Given the description of an element on the screen output the (x, y) to click on. 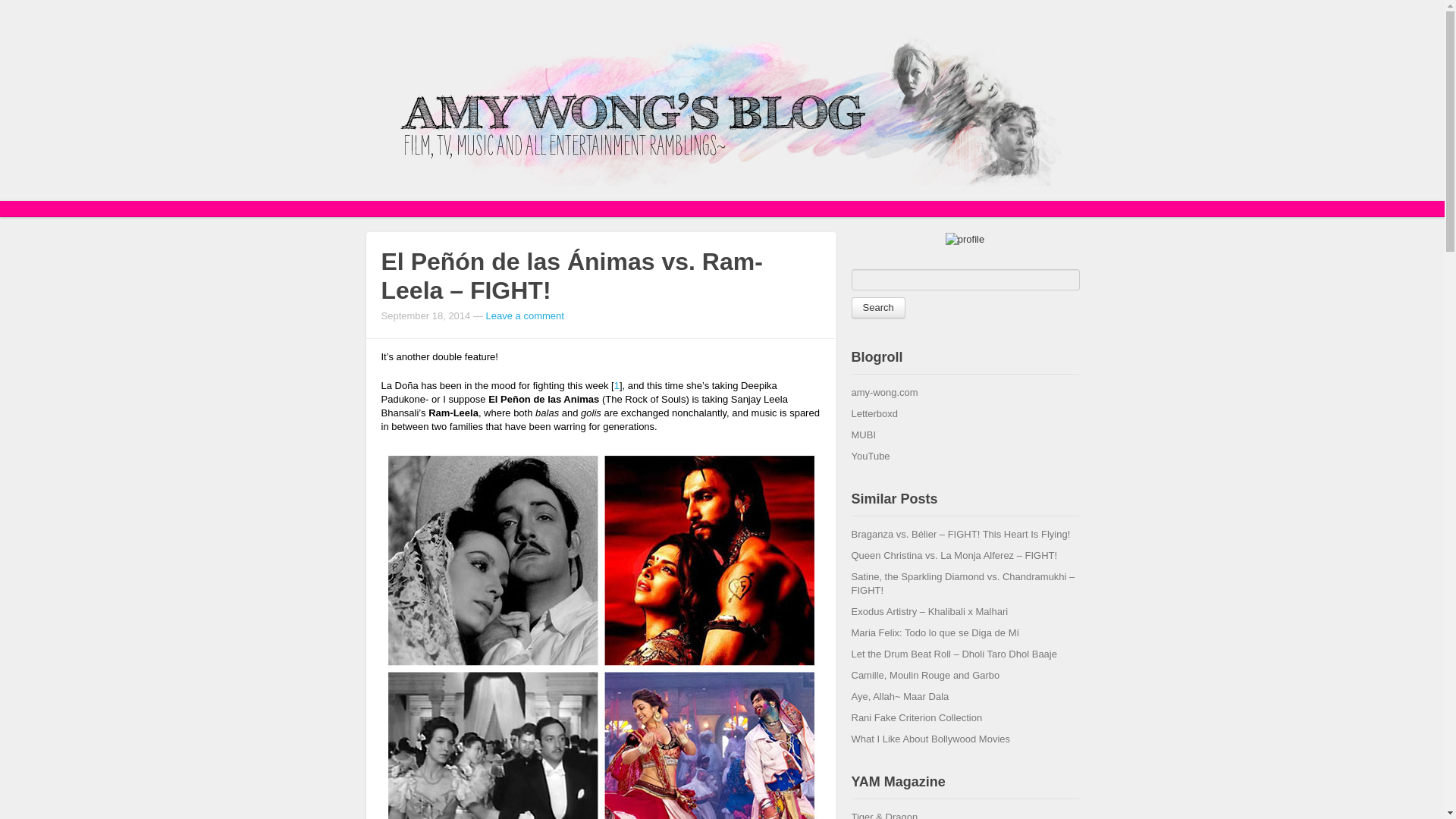
September 17, 2014 (953, 555)
MUBI (863, 434)
Leave a comment (525, 315)
July 25, 2014 (962, 583)
Letterboxd (873, 413)
Search (877, 307)
amy-wong.com (883, 392)
Search (877, 307)
October 11, 2015 (960, 533)
